Given the description of an element on the screen output the (x, y) to click on. 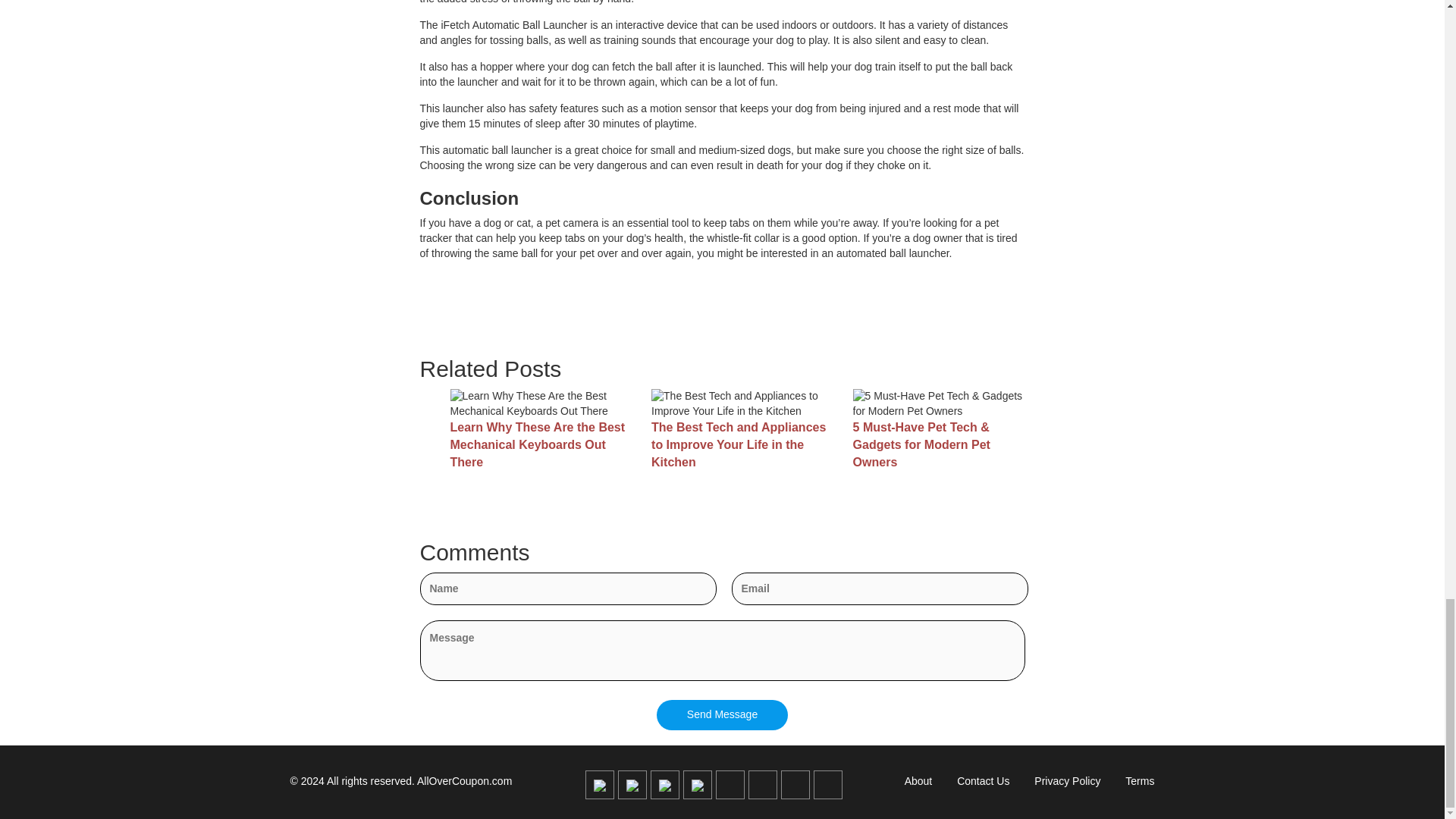
Privacy Policy (1066, 781)
Learn Why These Are the Best Mechanical Keyboards Out There (541, 445)
About (918, 781)
Send Message (721, 715)
Terms (1139, 781)
Send Message (721, 715)
Contact Us (982, 781)
